Given the description of an element on the screen output the (x, y) to click on. 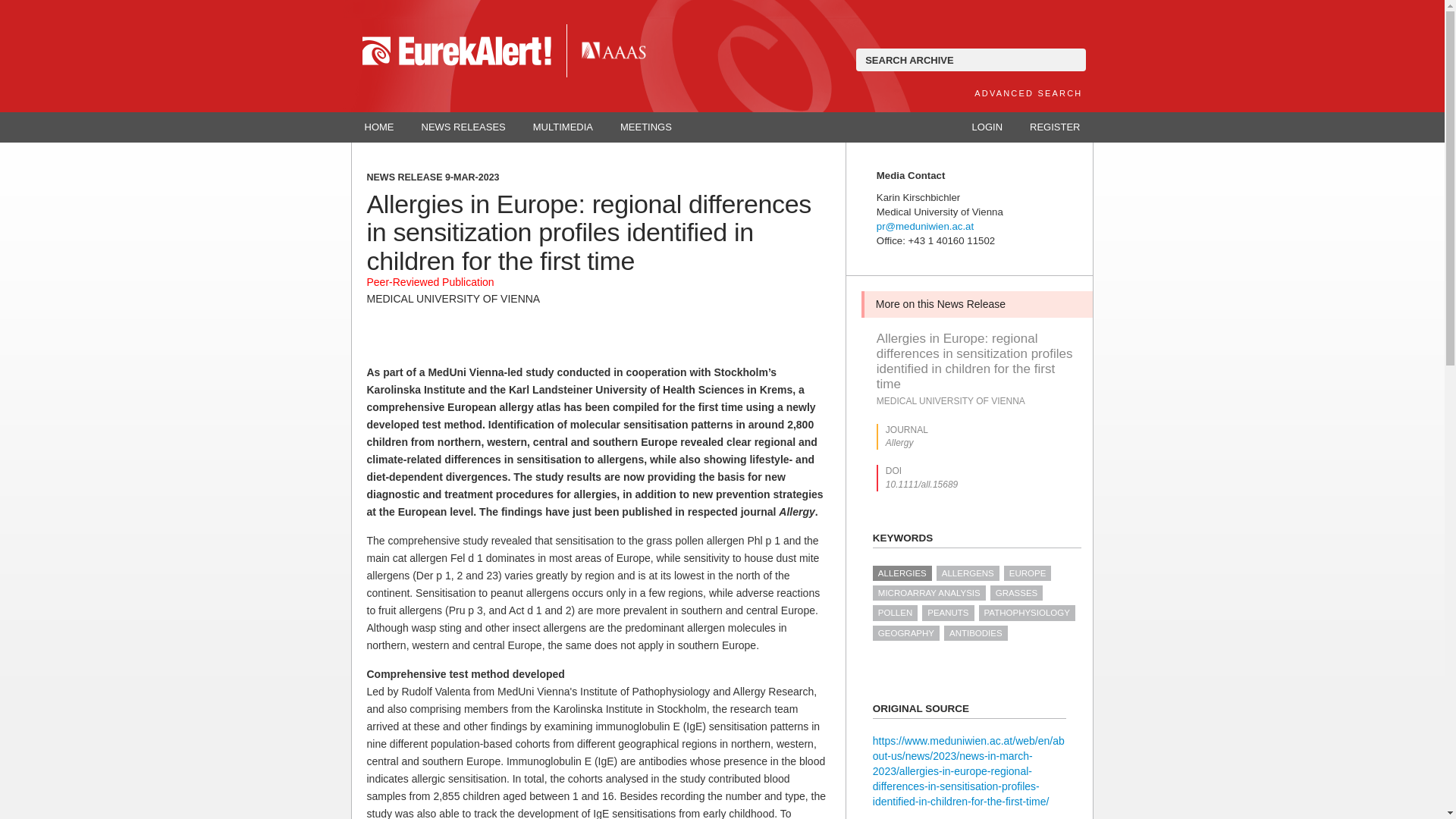
POLLEN (894, 612)
MULTIMEDIA (563, 127)
ADVANCED SEARCH (1027, 92)
PATHOPHYSIOLOGY (1026, 612)
LOGIN (987, 127)
GRASSES (1016, 592)
NEWS RELEASES (463, 127)
PEANUTS (947, 612)
Peer-Reviewed Publication (430, 282)
EUROPE (1027, 572)
ALLERGENS (967, 572)
REGISTER (1054, 127)
ANTIBODIES (975, 632)
GEOGRAPHY (905, 632)
